Given the description of an element on the screen output the (x, y) to click on. 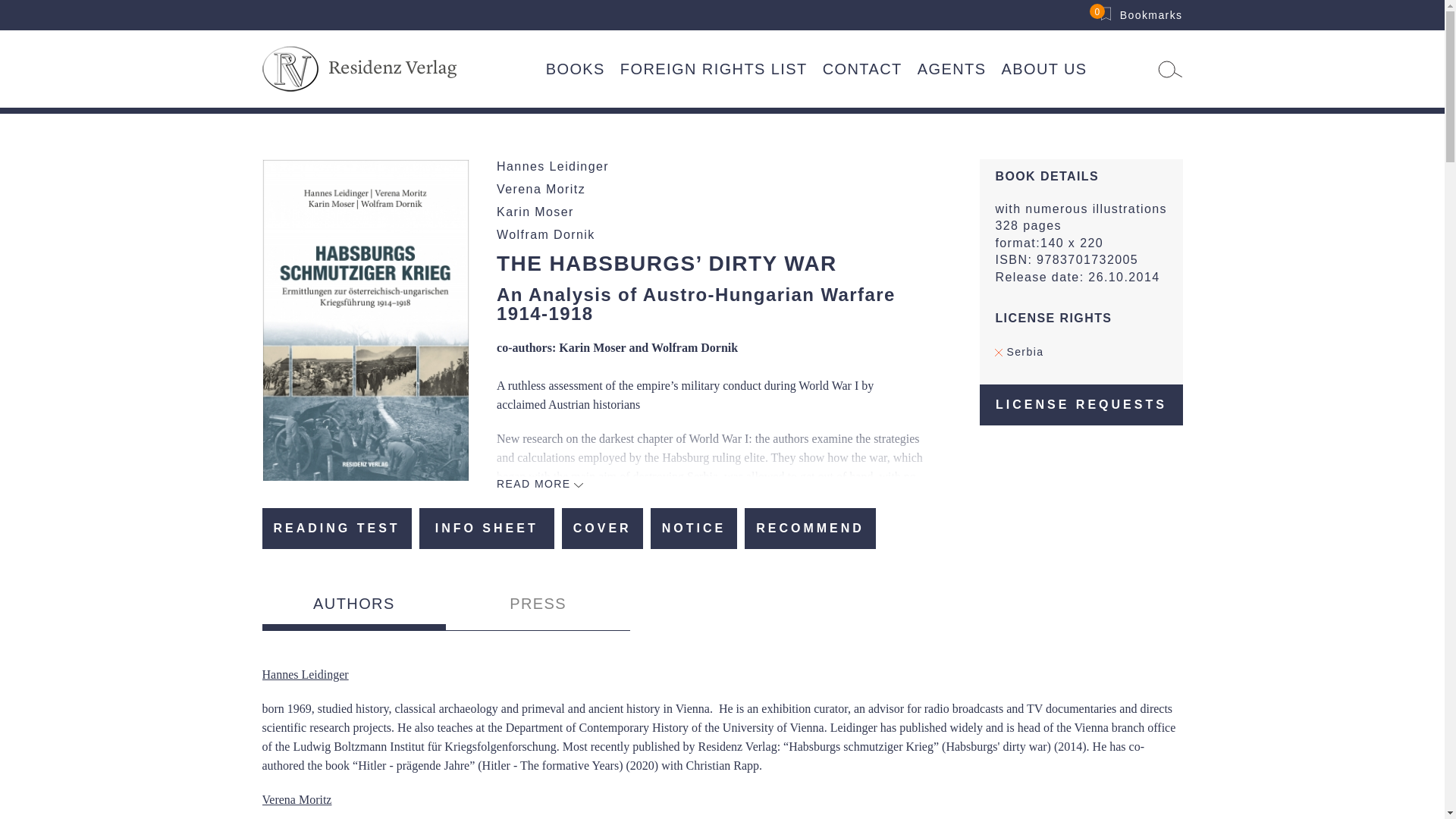
NOTICE (694, 527)
READ MORE (539, 483)
Bookmarks (1141, 15)
About us (1043, 68)
Merken (694, 527)
RECOMMEND (810, 527)
Infoblatt (486, 527)
Leseprobe (337, 527)
Empfehlen (810, 527)
COVER (602, 527)
